Given the description of an element on the screen output the (x, y) to click on. 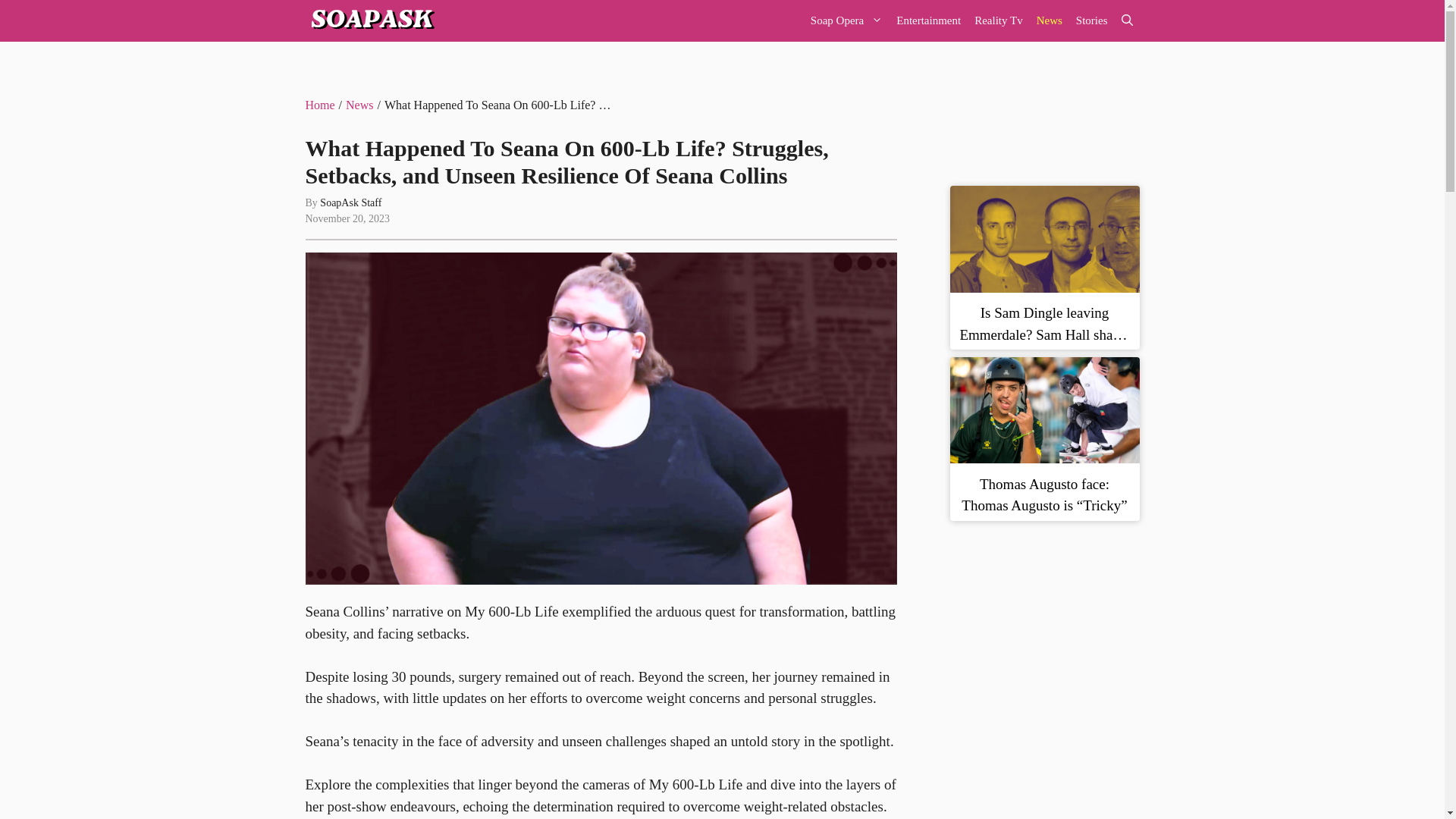
SoapAsk (370, 20)
View all posts by SoapAsk Staff (350, 202)
Soap Opera (846, 20)
